Given the description of an element on the screen output the (x, y) to click on. 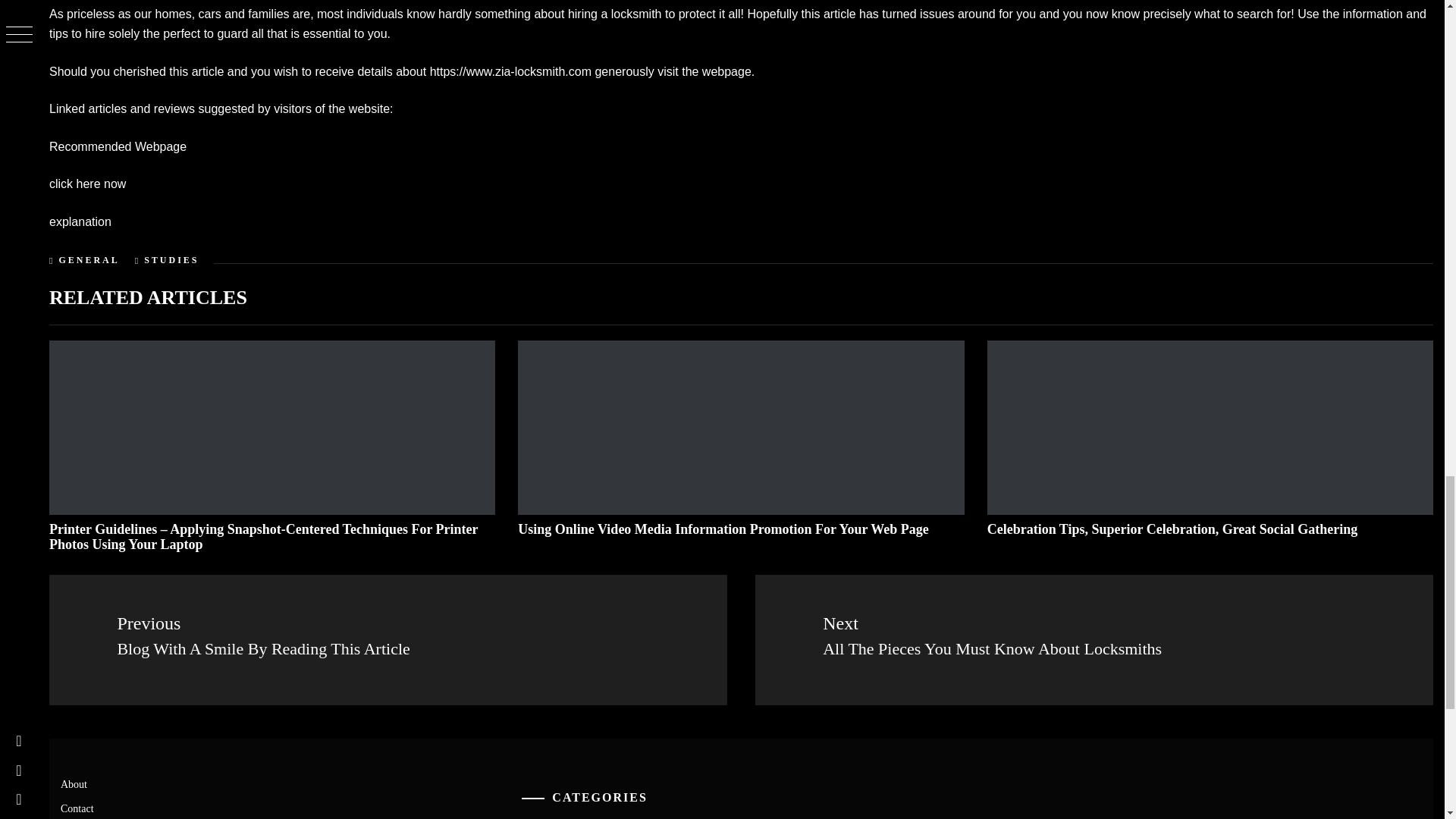
Recommended Webpage (117, 146)
Contact (77, 808)
STUDIES (171, 259)
explanation (80, 221)
click here now (87, 183)
GENERAL (88, 259)
families (267, 13)
About (74, 784)
